Given the description of an element on the screen output the (x, y) to click on. 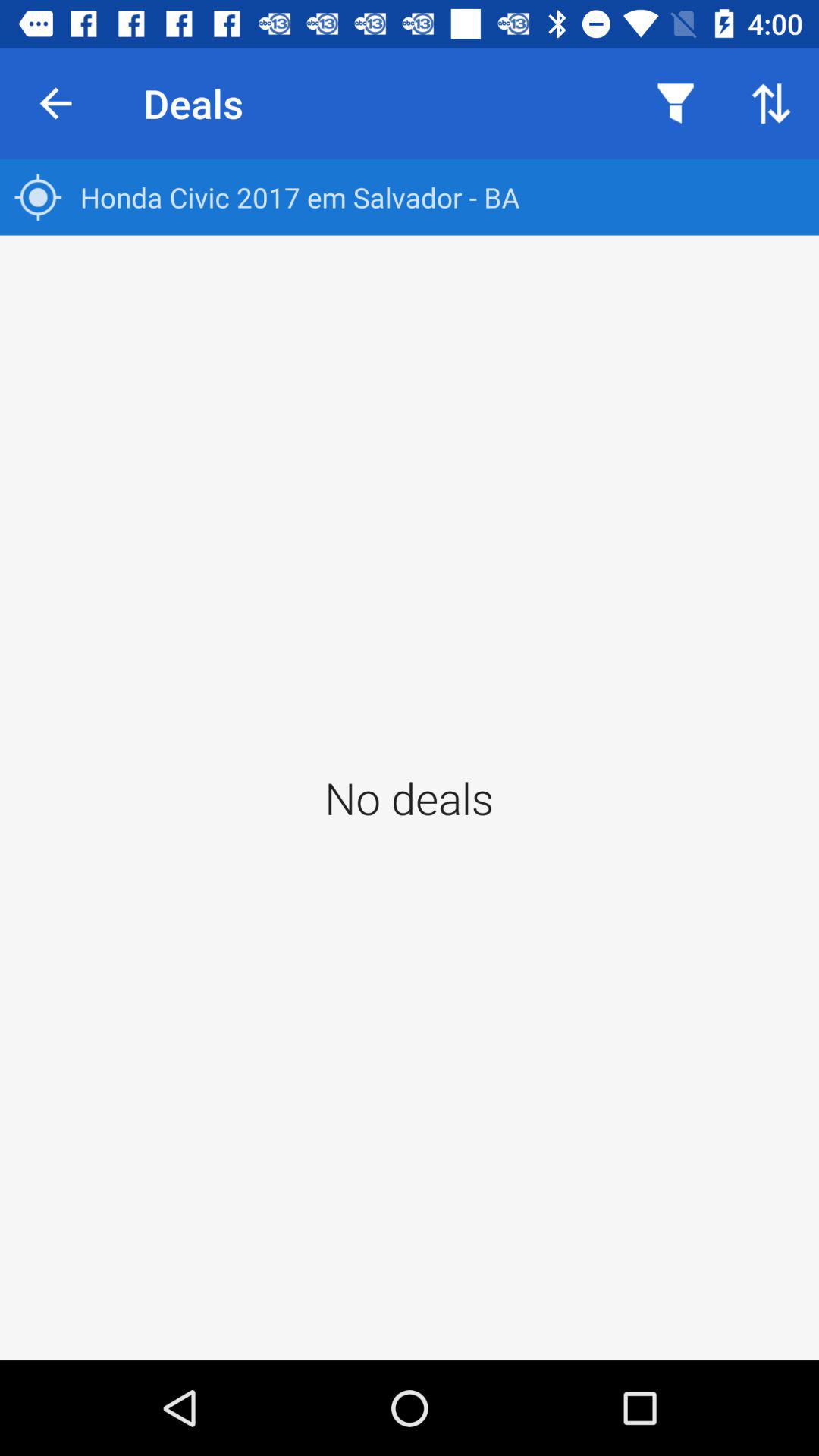
turn on icon above honda civic 2017 icon (55, 103)
